Given the description of an element on the screen output the (x, y) to click on. 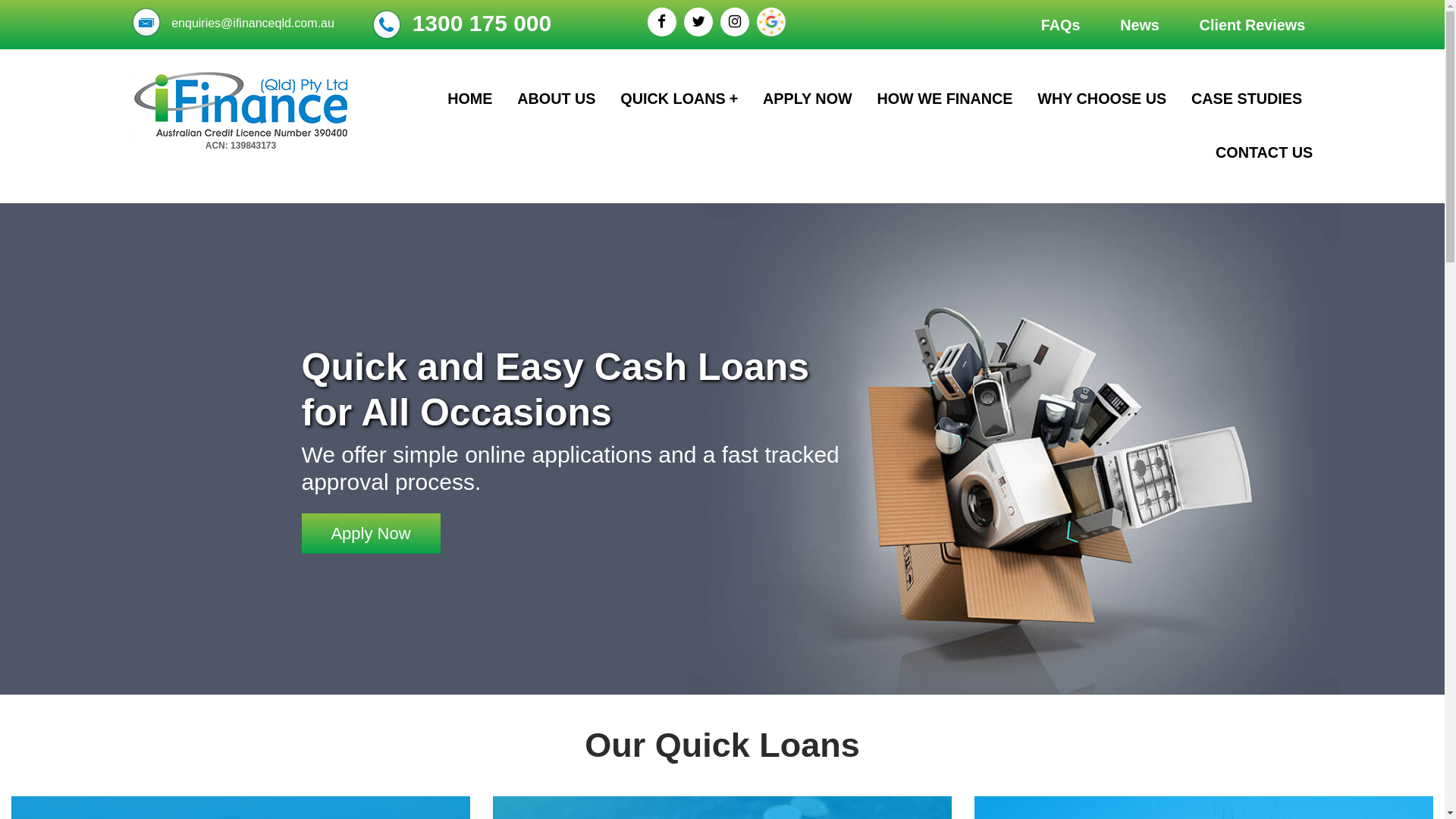
QUICK LOANS Element type: text (678, 98)
Client Reviews Element type: text (1252, 22)
Apply Now Element type: text (370, 533)
APPLY NOW Element type: text (807, 98)
CONTACT US Element type: text (1263, 152)
1300 175 000 Element type: text (482, 22)
HOME Element type: text (469, 98)
WHY CHOOSE US Element type: text (1101, 98)
ABOUT US Element type: text (556, 98)
News Element type: text (1139, 22)
enquiries@ifinanceqld.com.au Element type: text (252, 22)
CASE STUDIES Element type: text (1246, 98)
HOW WE FINANCE Element type: text (944, 98)
FAQs Element type: text (1060, 22)
